Given the description of an element on the screen output the (x, y) to click on. 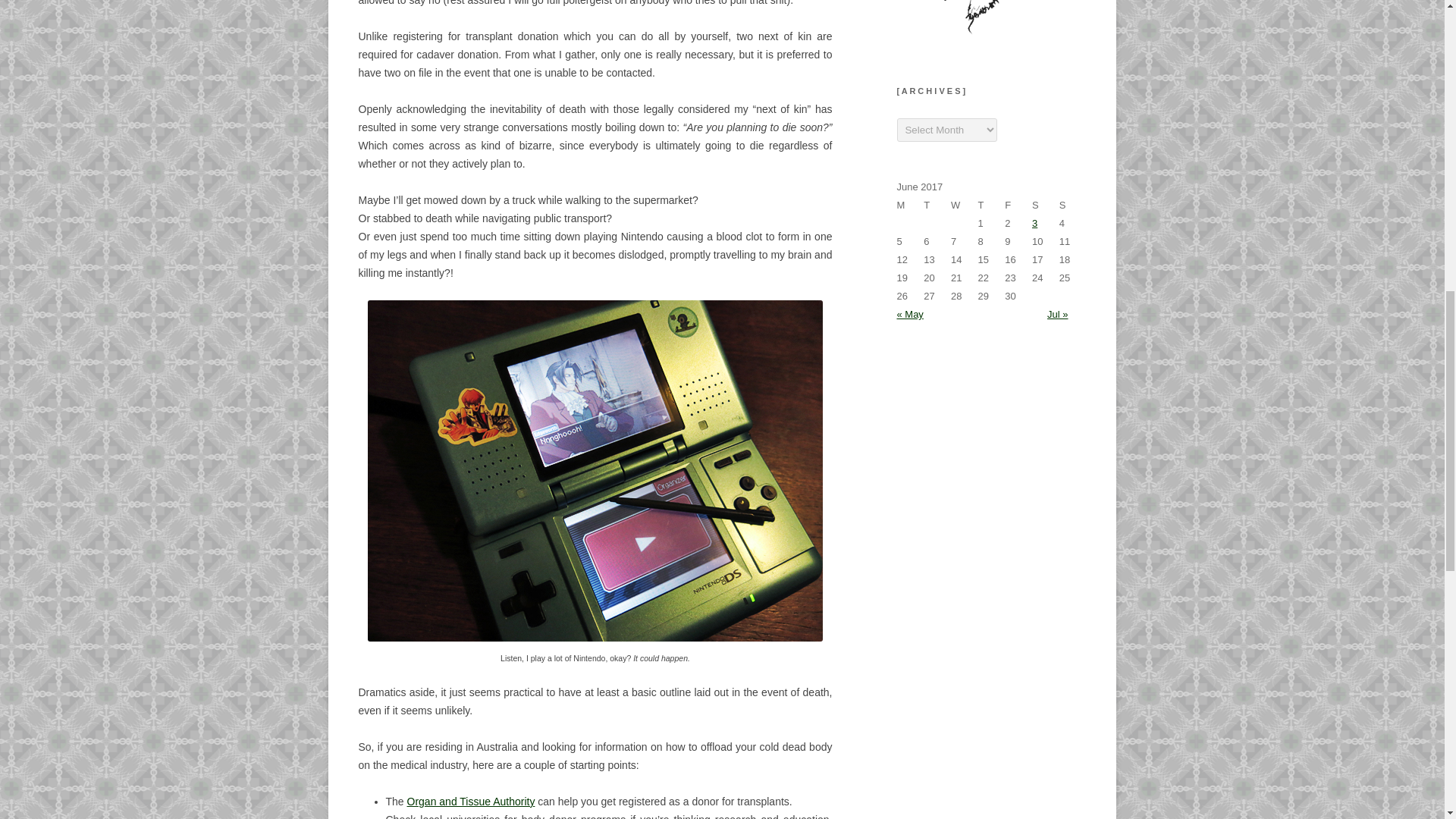
3 (1034, 223)
Tuesday (936, 205)
Thursday (992, 205)
Friday (1018, 205)
Monday (909, 205)
Sunday (1072, 205)
Wednesday (964, 205)
Organ and Tissue Authority (471, 801)
Saturday (1045, 205)
